Given the description of an element on the screen output the (x, y) to click on. 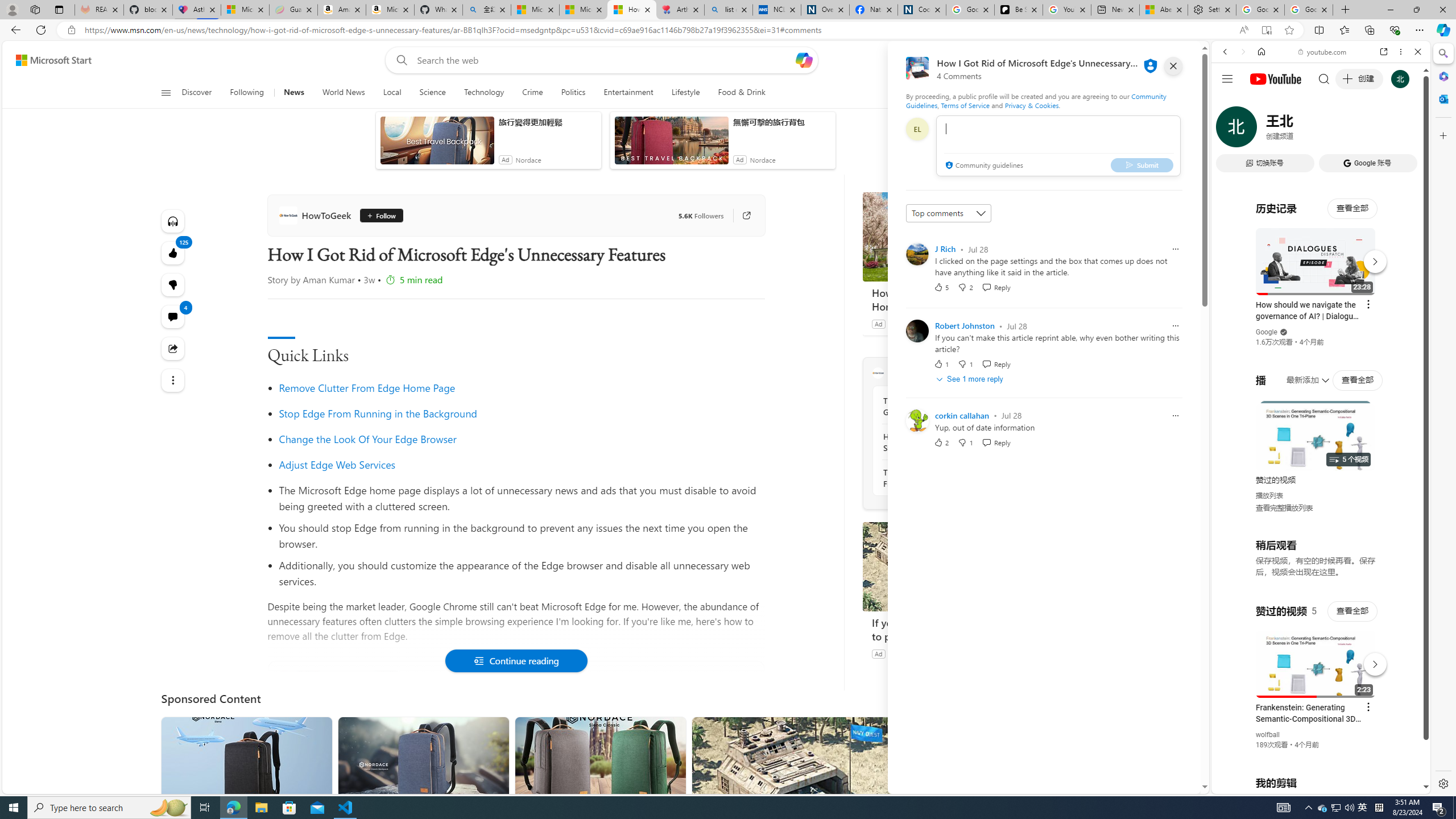
Microsoft rewards (1129, 60)
Open link in new tab (1383, 51)
Open Copilot (803, 59)
Profile Picture (916, 420)
To get missing image descriptions, open the context menu. (983, 92)
anim-content (671, 144)
Nordace (762, 159)
Search Filter, Search Tools (1350, 129)
Ad (877, 653)
Cookies (921, 9)
